Given the description of an element on the screen output the (x, y) to click on. 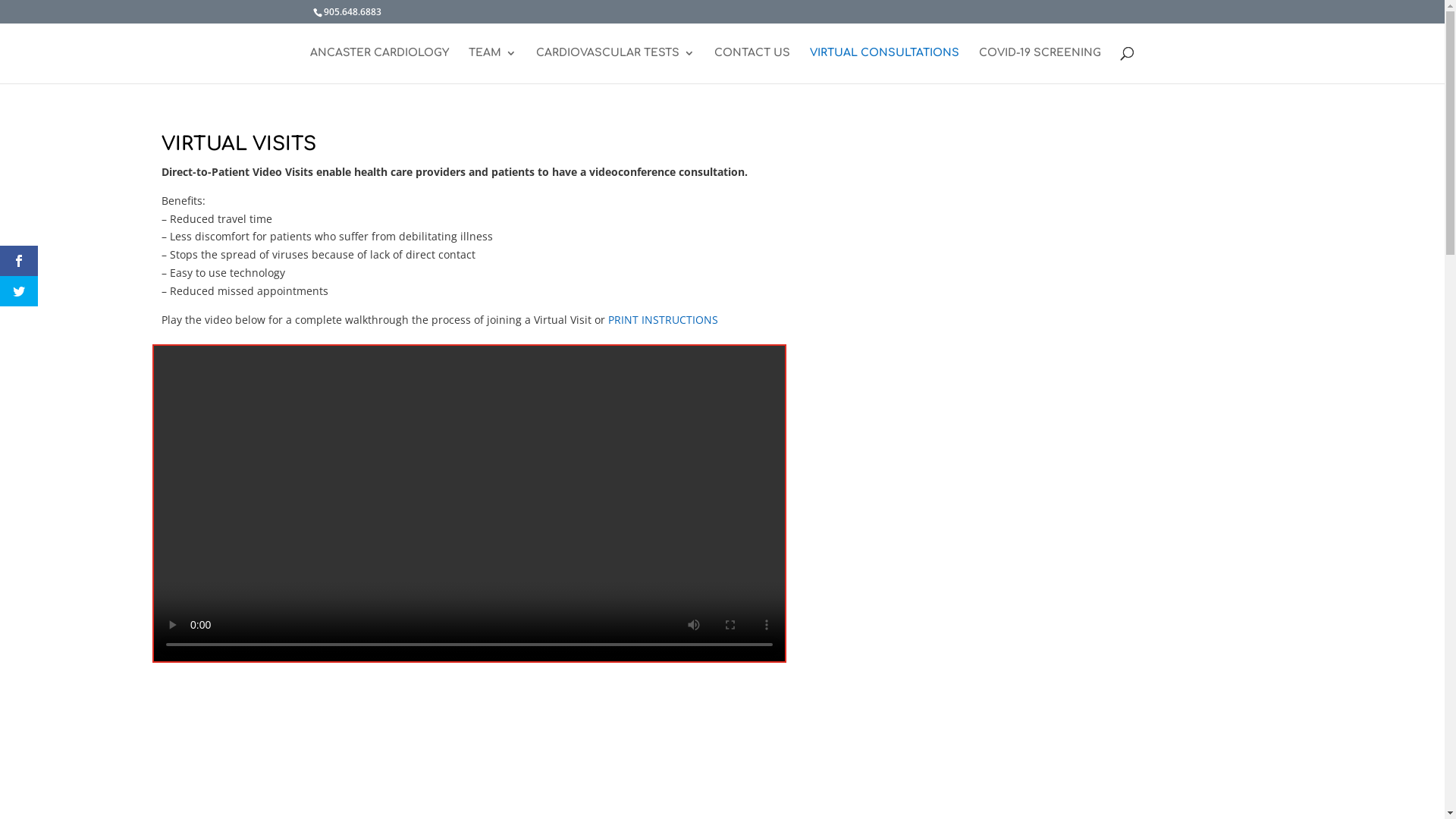
CONTACT US Element type: text (752, 65)
CARDIOVASCULAR TESTS Element type: text (615, 65)
PRINT INSTRUCTIONS Element type: text (663, 319)
ANCASTER CARDIOLOGY Element type: text (379, 65)
TEAM Element type: text (492, 65)
VIRTUAL CONSULTATIONS Element type: text (884, 65)
COVID-19 SCREENING Element type: text (1040, 65)
